Given the description of an element on the screen output the (x, y) to click on. 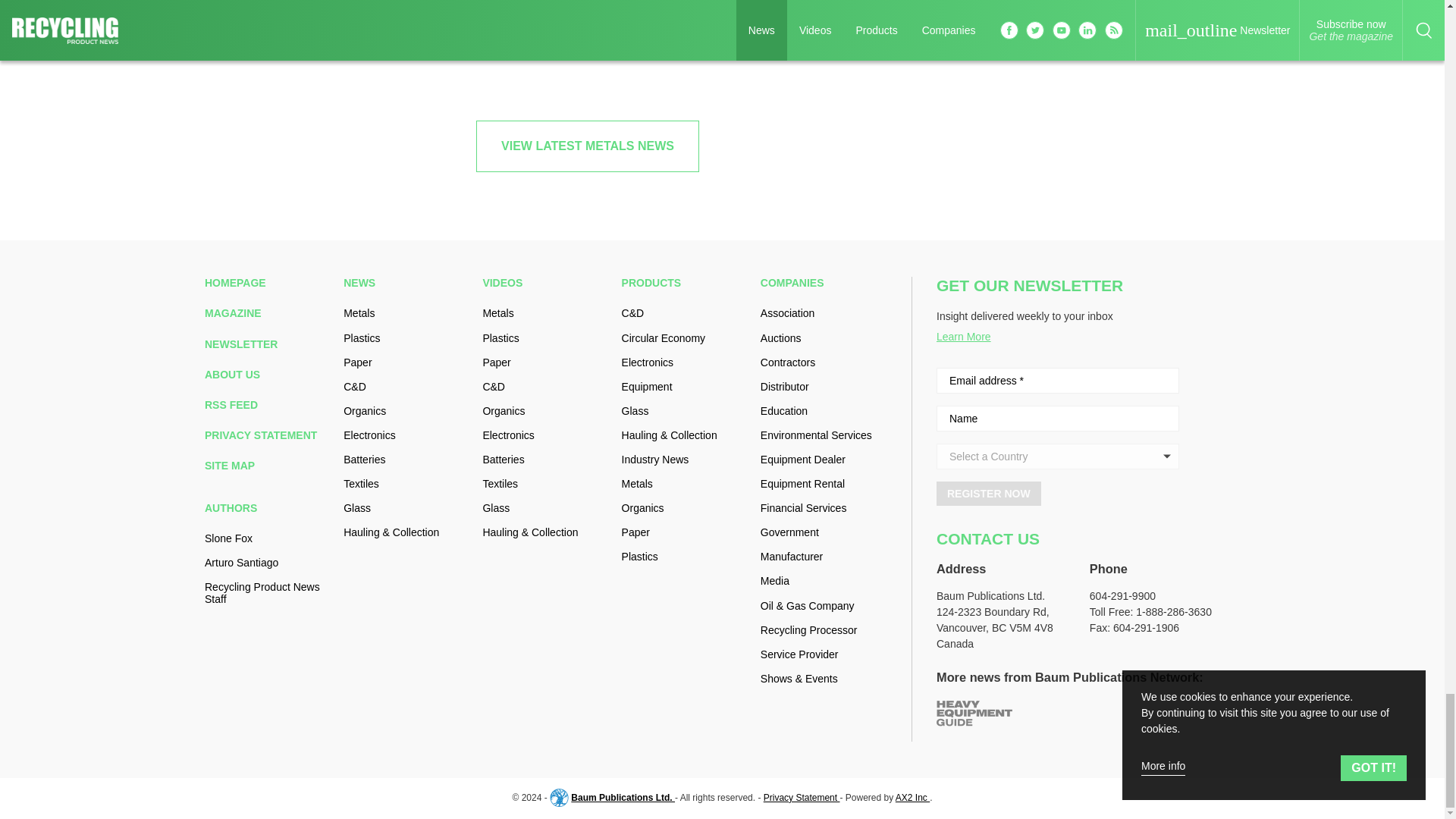
MAGAZINE (268, 313)
HOMEPAGE (268, 282)
Arturo Santiago (268, 562)
Recycling Product News Staff (268, 592)
SITE MAP (268, 465)
ABOUT US (268, 374)
VIEW LATEST METALS NEWS (587, 145)
RSS FEED (268, 404)
PRIVACY STATEMENT (268, 435)
NEWSLETTER (268, 344)
Slone Fox (268, 538)
